Given the description of an element on the screen output the (x, y) to click on. 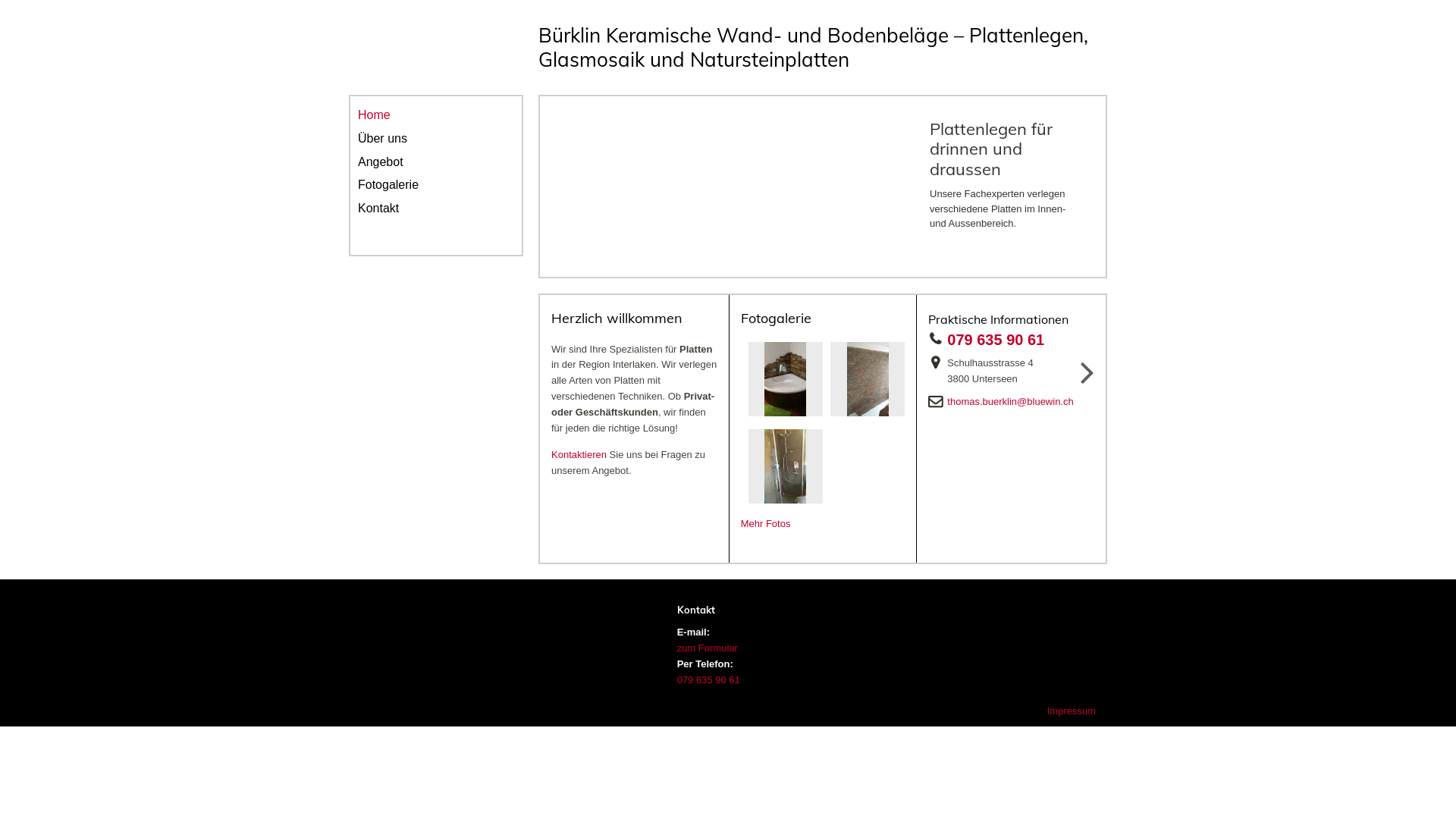
Angebot Element type: text (435, 162)
Kontaktieren Element type: text (578, 454)
Impressum Element type: text (1071, 710)
079 635 90 61 Element type: text (708, 679)
079 635 90 61 Element type: text (999, 340)
zum Formular Element type: text (707, 647)
Kontakt Element type: text (435, 208)
thomas.buerklin@bluewin.ch Element type: text (1014, 402)
Home Element type: text (435, 115)
Mehr Fotos Element type: text (765, 523)
Fotogalerie Element type: text (435, 185)
